Given the description of an element on the screen output the (x, y) to click on. 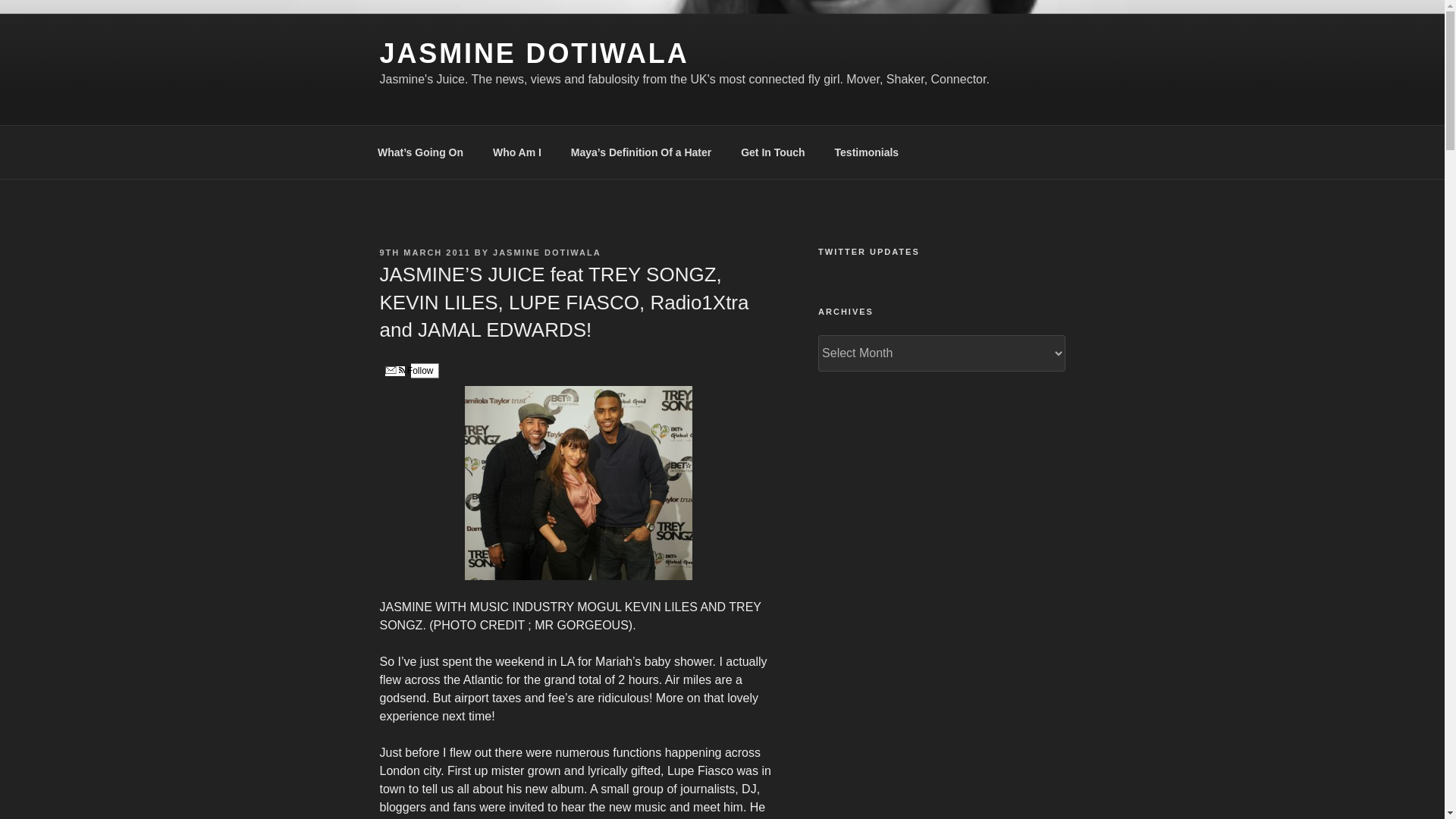
Get In Touch (773, 151)
Who Am I (516, 151)
Testimonials (866, 151)
Email, RSS (394, 370)
JASMINE DOTIWALA (547, 252)
JASMINE DOTIWALA (533, 52)
9TH MARCH 2011 (424, 252)
TWITTER UPDATES (941, 251)
Follow (408, 370)
